Given the description of an element on the screen output the (x, y) to click on. 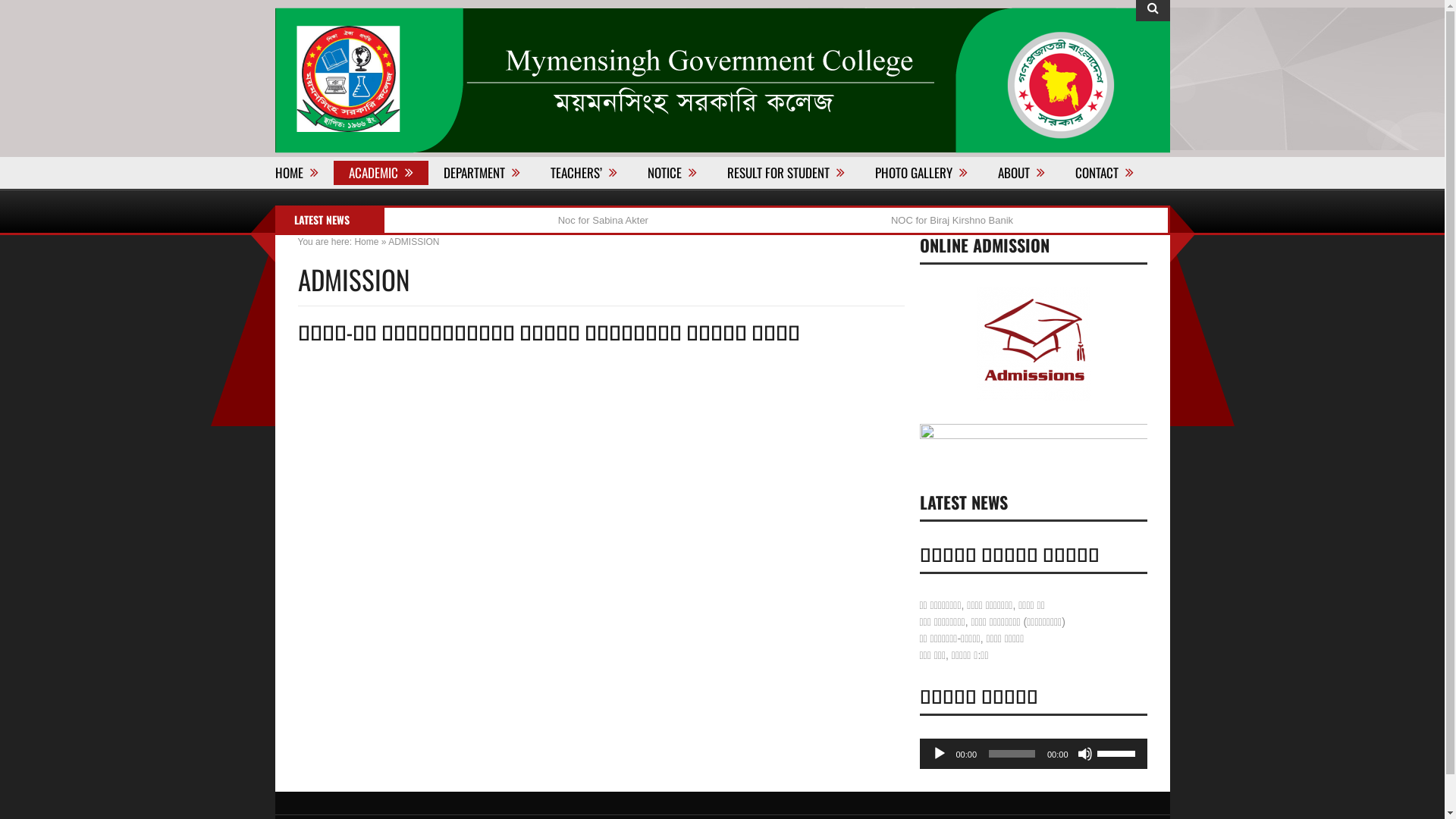
PHOTO GALLERY Element type: text (920, 172)
CONTACT Element type: text (1104, 172)
DEPARTMENT Element type: text (480, 172)
Home Element type: text (366, 241)
ABOUT Element type: text (1021, 172)
ACADEMIC Element type: text (380, 172)
NOTICE Element type: text (672, 172)
Noc for Sabina Akter Element type: text (622, 219)
Use Up/Down Arrow keys to increase or decrease volume. Element type: text (1117, 751)
NOC for Biraj Kirshno Banik Element type: text (971, 219)
HOME Element type: text (303, 172)
Play Element type: hover (938, 753)
RESULT FOR STUDENT Element type: text (785, 172)
Mute Element type: hover (1084, 753)
